Given the description of an element on the screen output the (x, y) to click on. 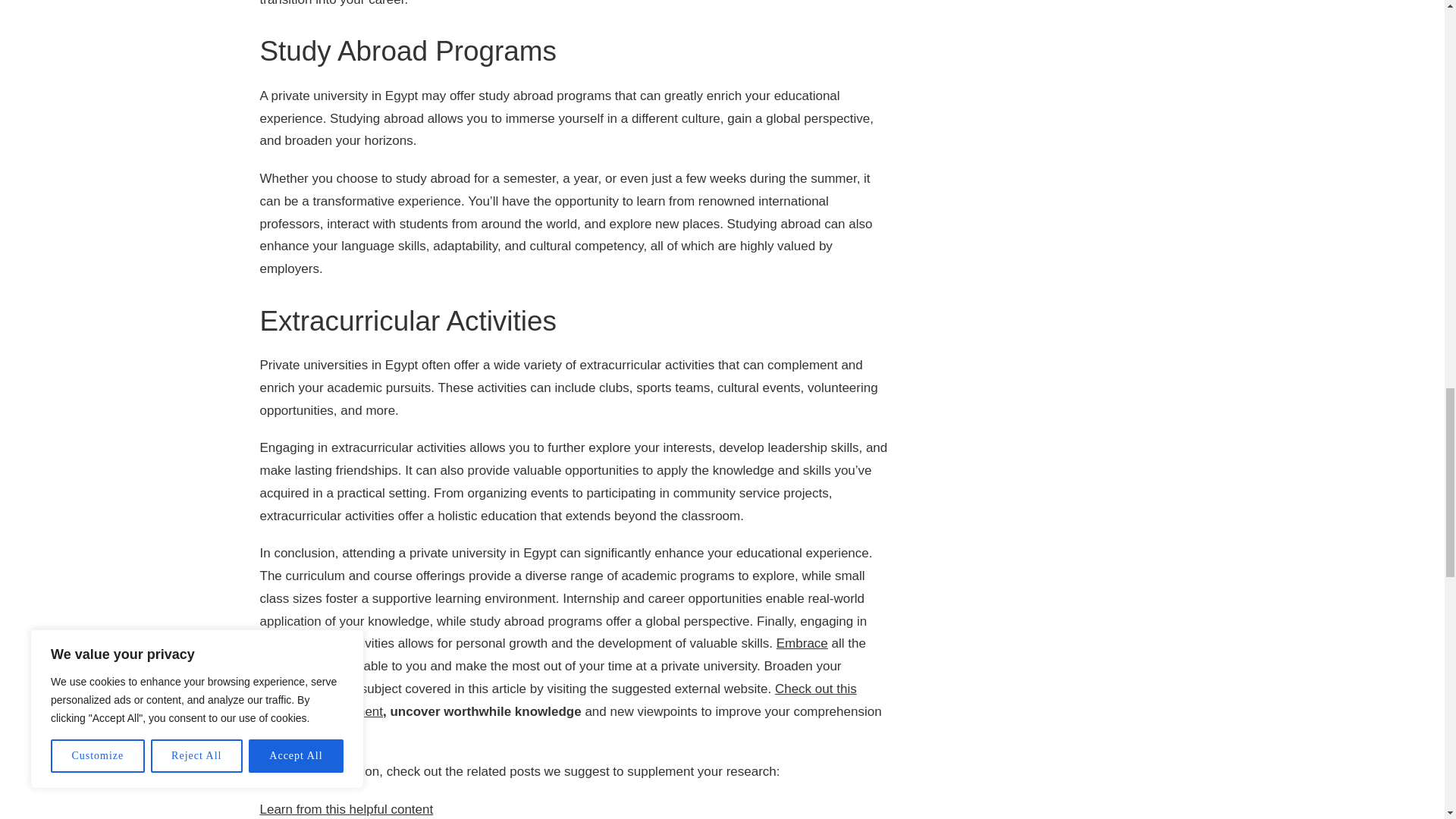
Embrace (802, 643)
Learn from this helpful content (345, 809)
Check out this informative document (557, 700)
